Given the description of an element on the screen output the (x, y) to click on. 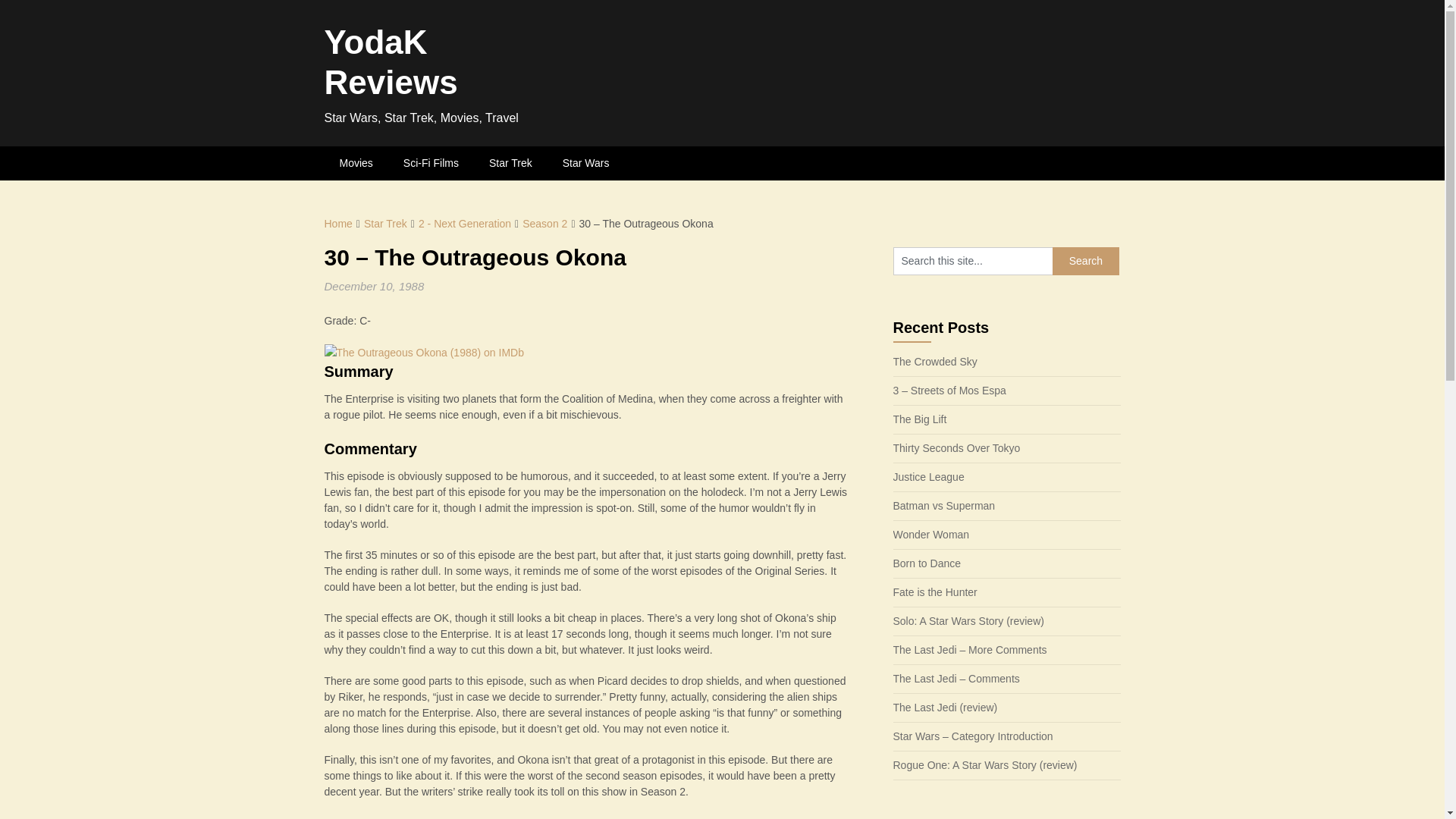
Search (1085, 261)
Star Trek (510, 163)
YodaK Reviews (391, 61)
Movies (356, 163)
Search this site... (972, 261)
Sci-Fi Films (431, 163)
